Given the description of an element on the screen output the (x, y) to click on. 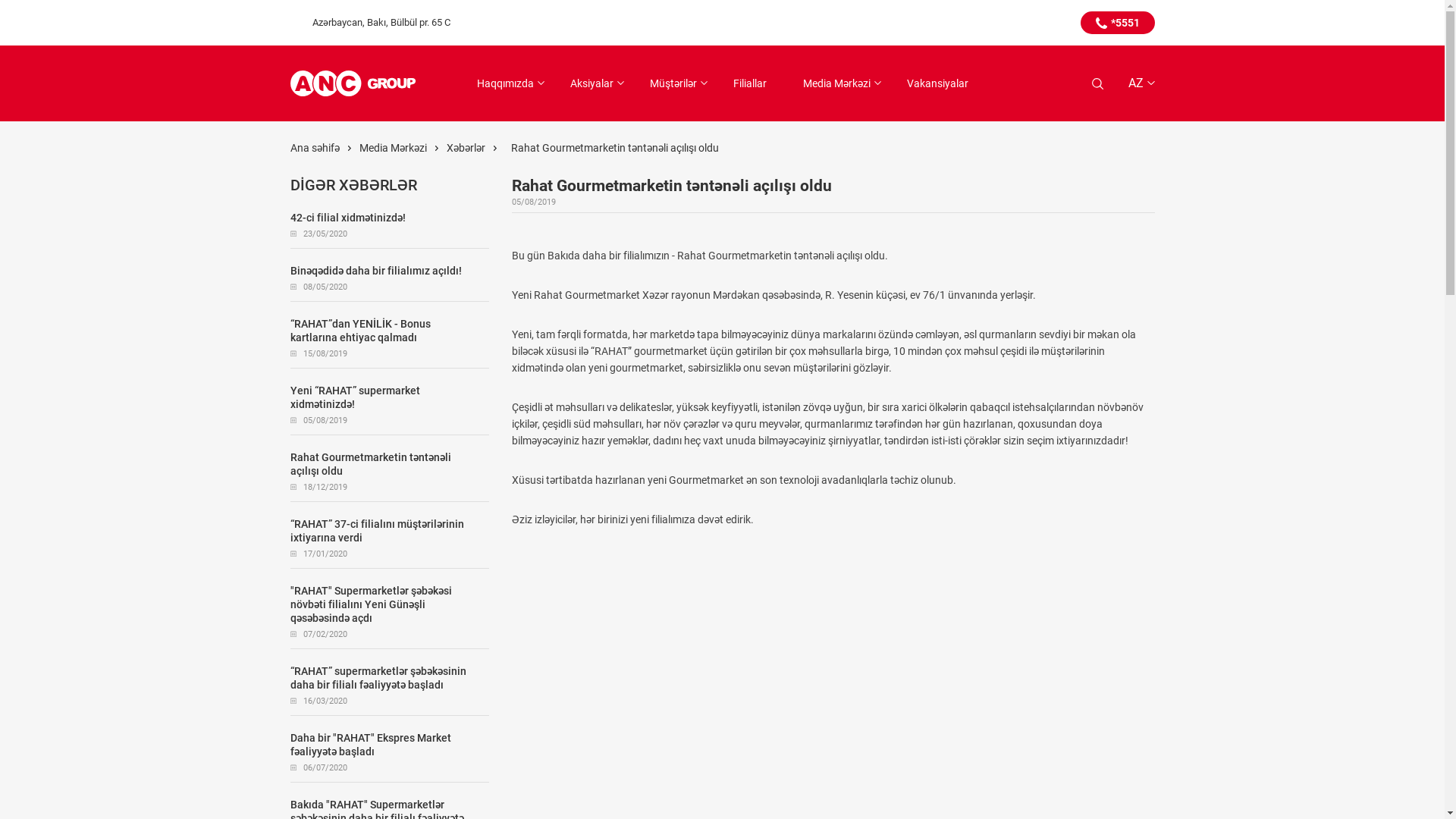
Filiallar Element type: text (748, 83)
Aksiyalar Element type: text (591, 83)
*5551 Element type: text (1116, 22)
Vakansiyalar Element type: text (937, 83)
